Given the description of an element on the screen output the (x, y) to click on. 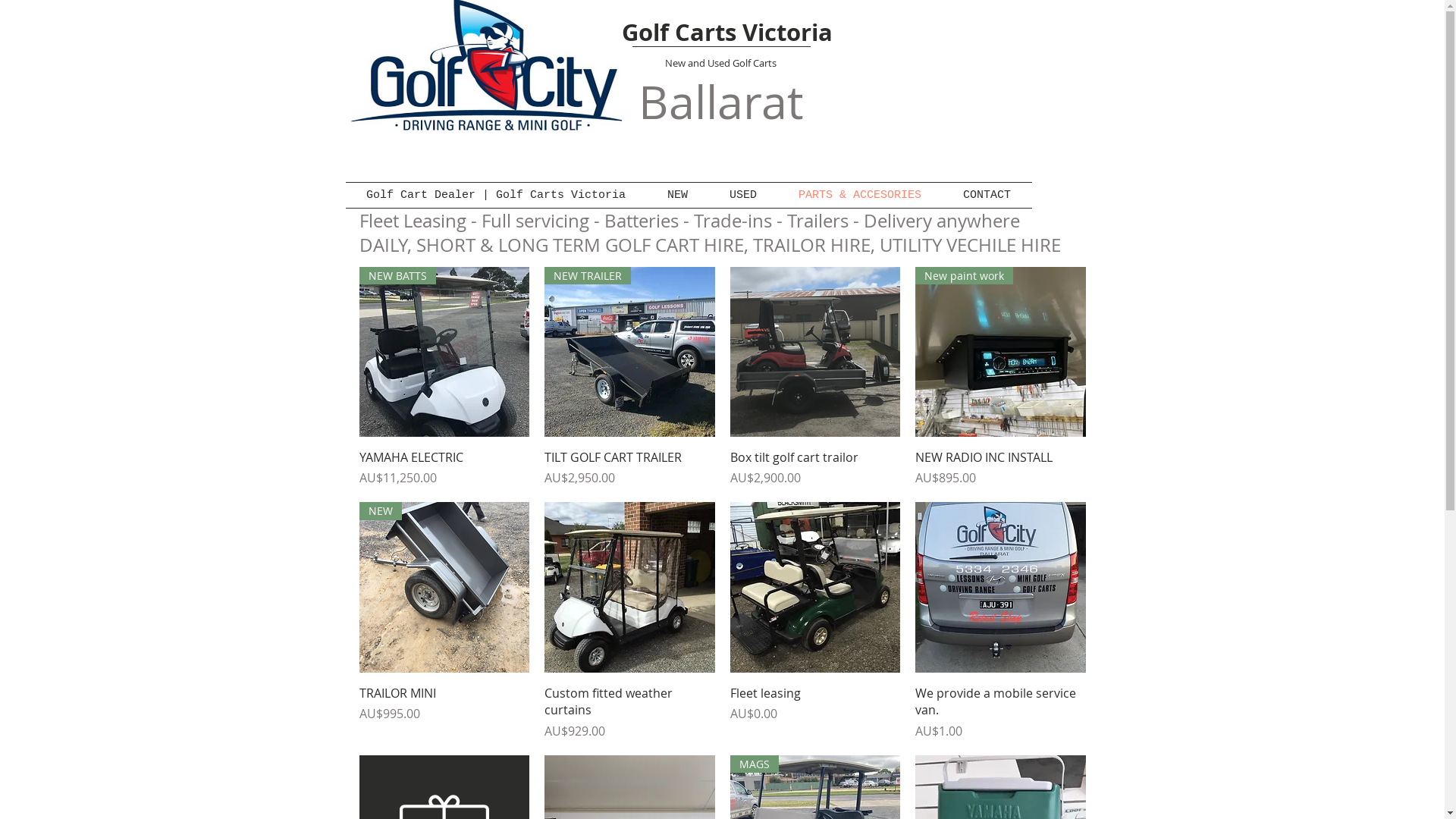
NEW Element type: text (677, 194)
USED Element type: text (742, 194)
NEW RADIO INC INSTALL
Price
AU$895.00 Element type: text (1000, 467)
NEW TRAILER Element type: text (629, 351)
New and Used Golf Carts Element type: text (720, 62)
Box tilt golf cart trailor
Price
AU$2,900.00 Element type: text (814, 467)
NEW BATTS Element type: text (444, 351)
TRAILOR MINI
Price
AU$995.00 Element type: text (444, 712)
Custom fitted weather curtains
Price
AU$929.00 Element type: text (629, 712)
Golf Cart Dealer | Golf Carts Victoria Element type: text (495, 194)
Golf Carts Victoria Element type: text (726, 31)
NEW Element type: text (444, 587)
CONTACT Element type: text (986, 194)
We provide a mobile service van.
Price
AU$1.00 Element type: text (1000, 712)
New paint work Element type: text (1000, 351)
TILT GOLF CART TRAILER
Price
AU$2,950.00 Element type: text (629, 467)
PARTS & ACCESORIES Element type: text (860, 194)
YAMAHA ELECTRIC
Price
AU$11,250.00 Element type: text (444, 467)
Fleet leasing
Price
AU$0.00 Element type: text (814, 712)
